Given the description of an element on the screen output the (x, y) to click on. 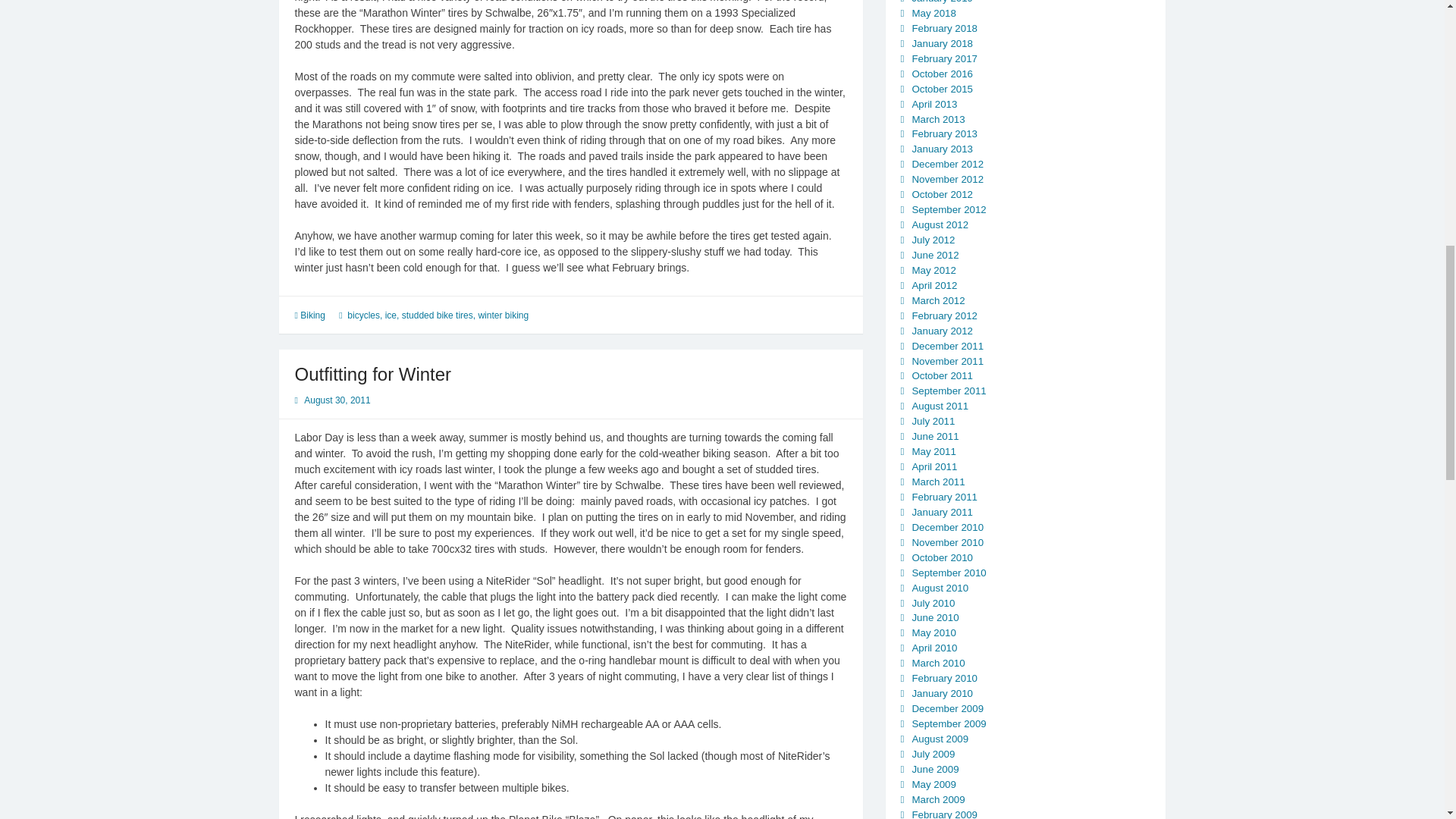
Biking (311, 315)
bicycles (363, 315)
studded bike tires (437, 315)
Outfitting for Winter (372, 373)
ice (390, 315)
August 30, 2011 (336, 399)
winter biking (502, 315)
